Given the description of an element on the screen output the (x, y) to click on. 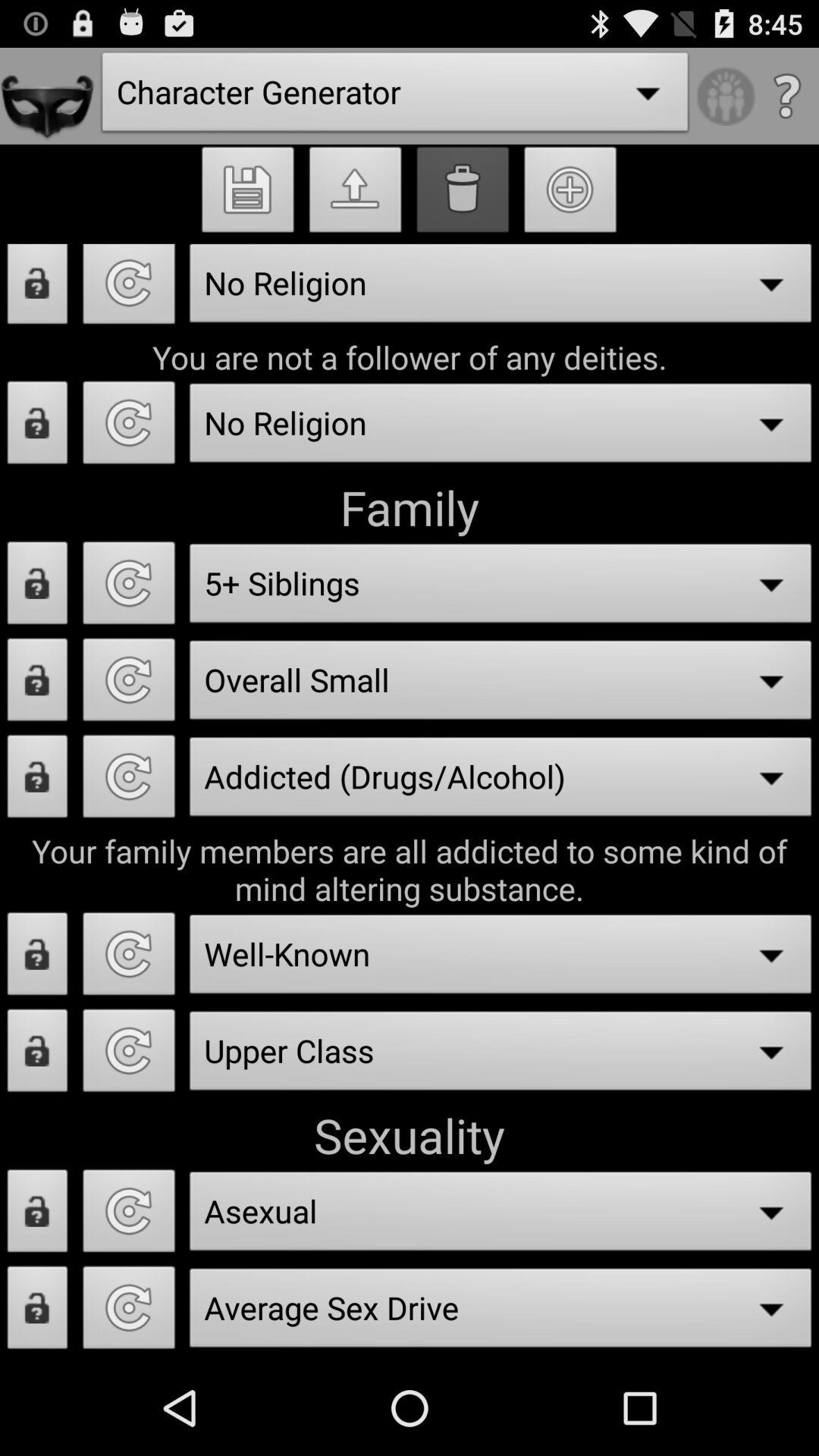
lock option (37, 780)
